Given the description of an element on the screen output the (x, y) to click on. 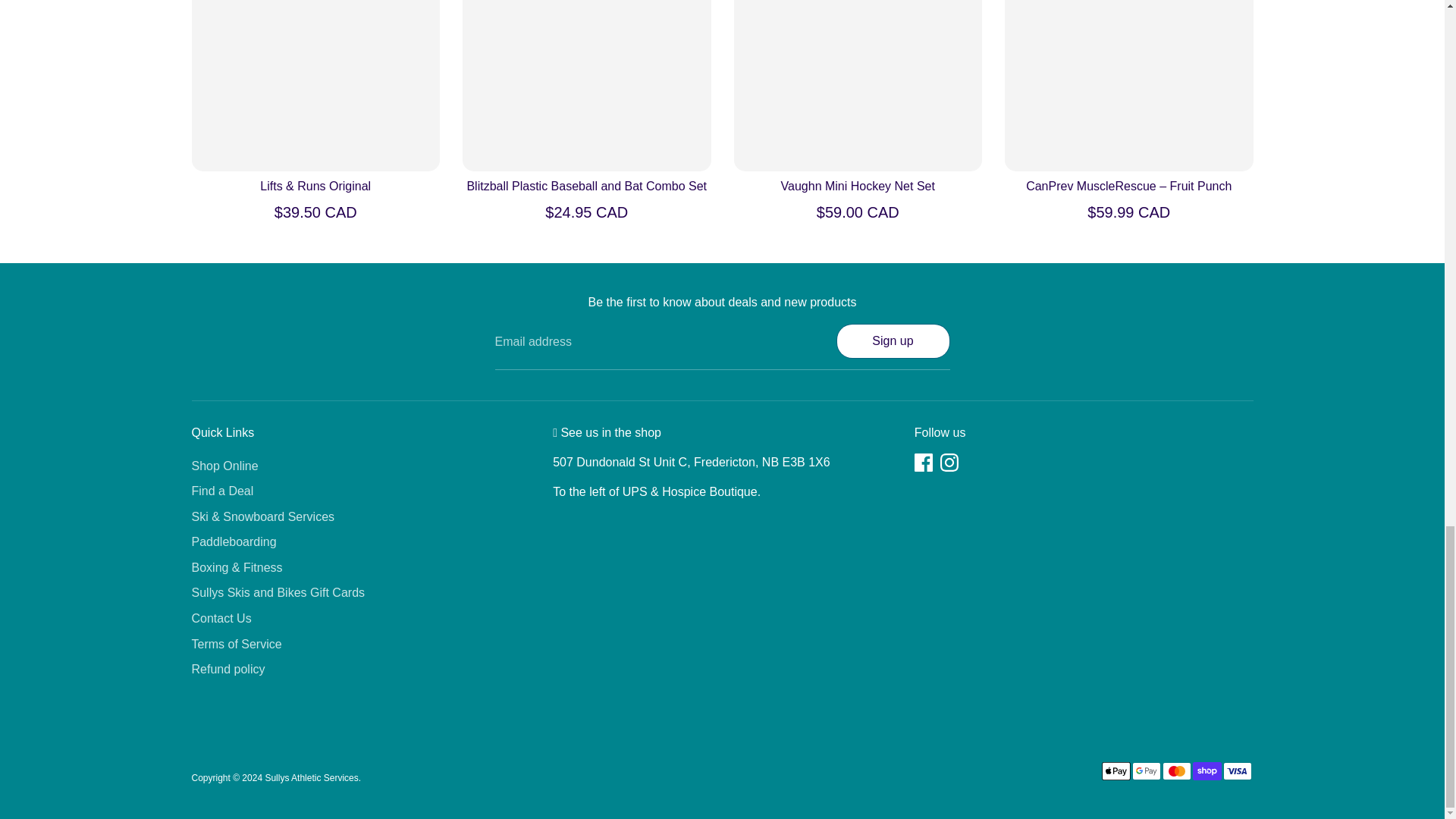
Visa (1236, 771)
Apple Pay (1114, 771)
Mastercard (1176, 771)
Shop Pay (1206, 771)
Google Pay (1145, 771)
